Given the description of an element on the screen output the (x, y) to click on. 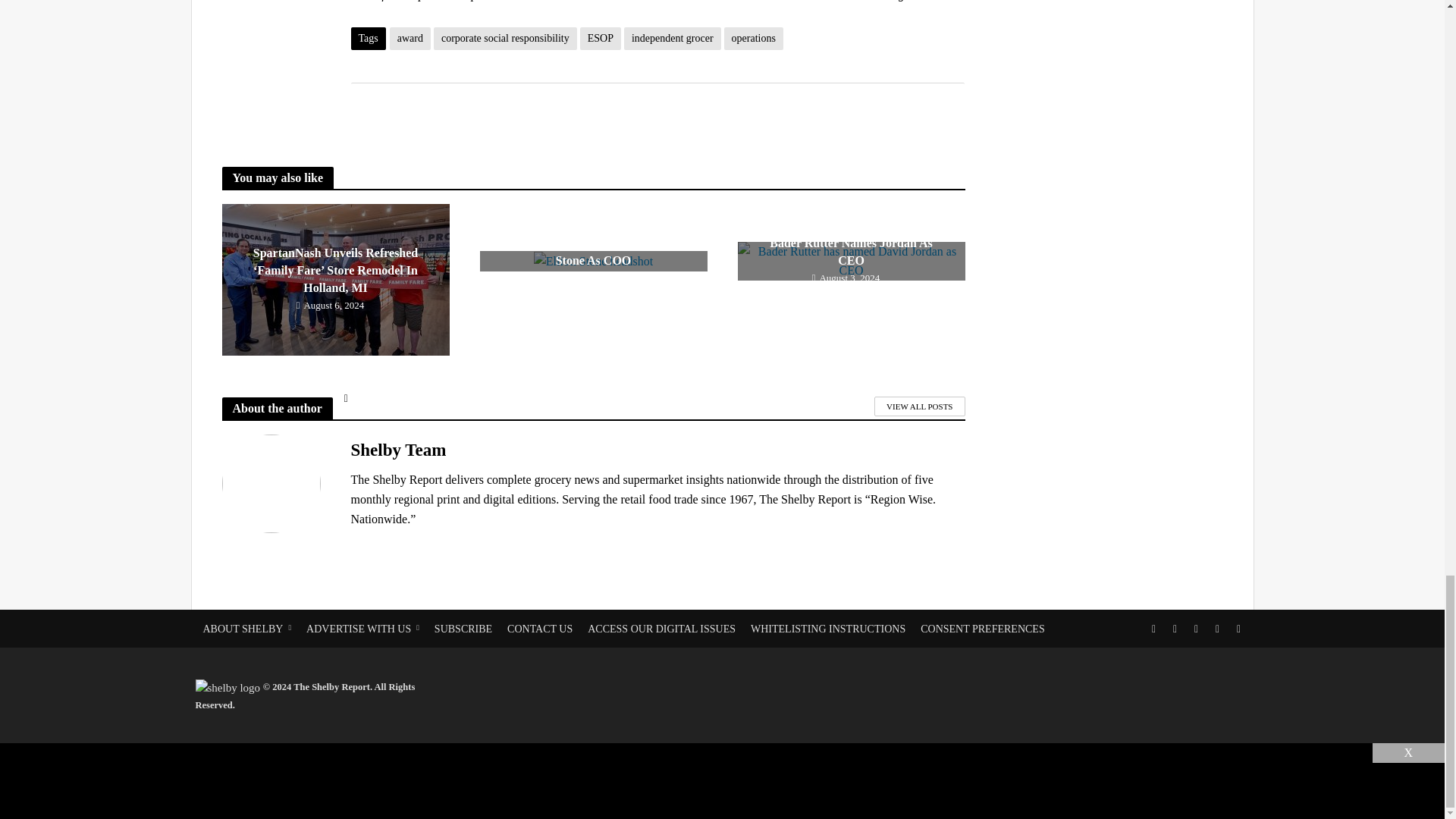
Bader Rutter Names Jordan As CEO (849, 260)
